Given the description of an element on the screen output the (x, y) to click on. 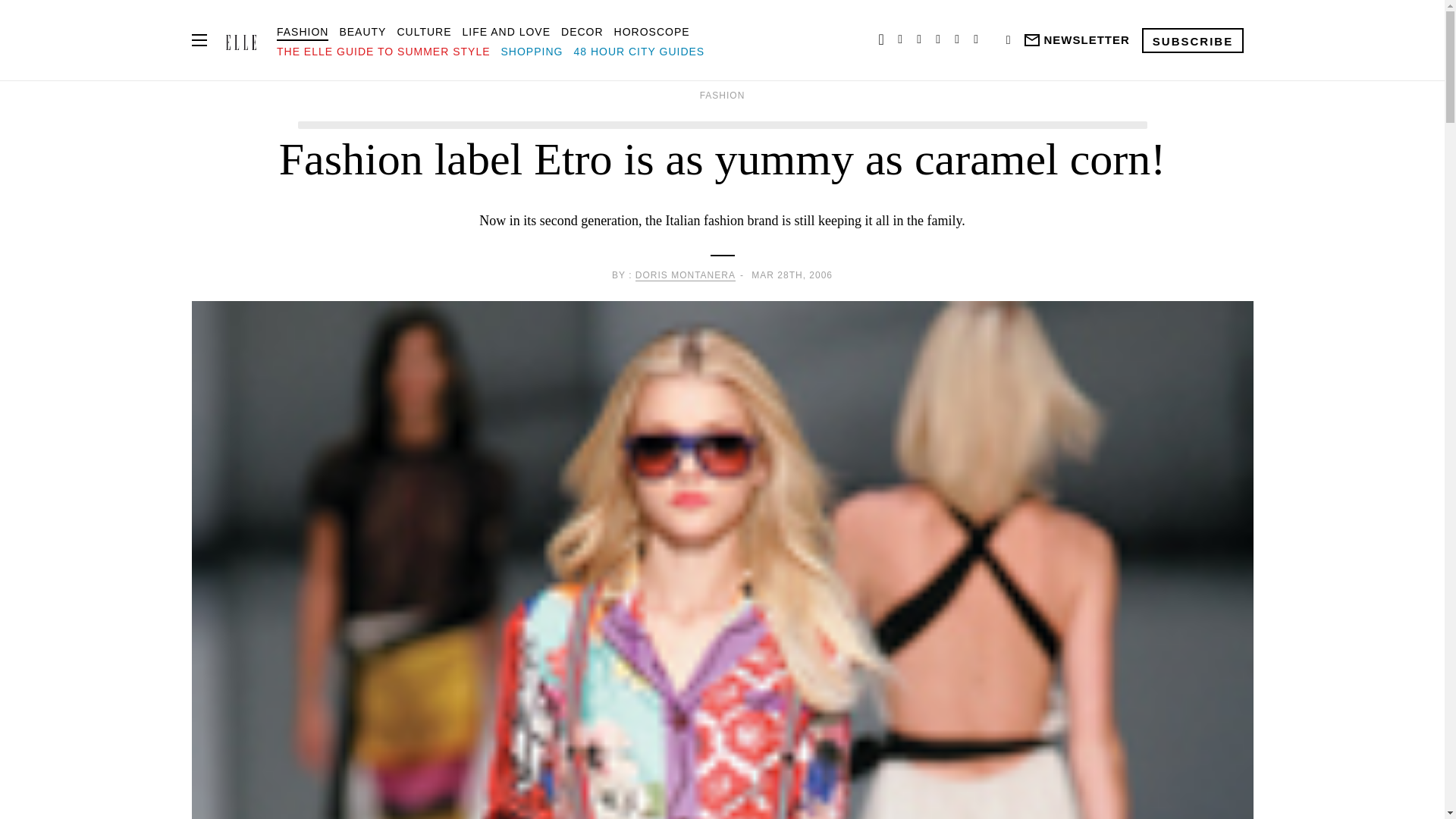
DECOR (582, 31)
NEWSLETTER (1075, 40)
BEAUTY (362, 31)
SUBSCRIBE (1192, 39)
FASHION (302, 31)
CULTURE (423, 31)
LIFE AND LOVE (506, 31)
HOROSCOPE (652, 31)
SHOPPING (531, 51)
DORIS MONTANERA (684, 275)
48 HOUR CITY GUIDES (638, 51)
THE ELLE GUIDE TO SUMMER STYLE (383, 51)
